Given the description of an element on the screen output the (x, y) to click on. 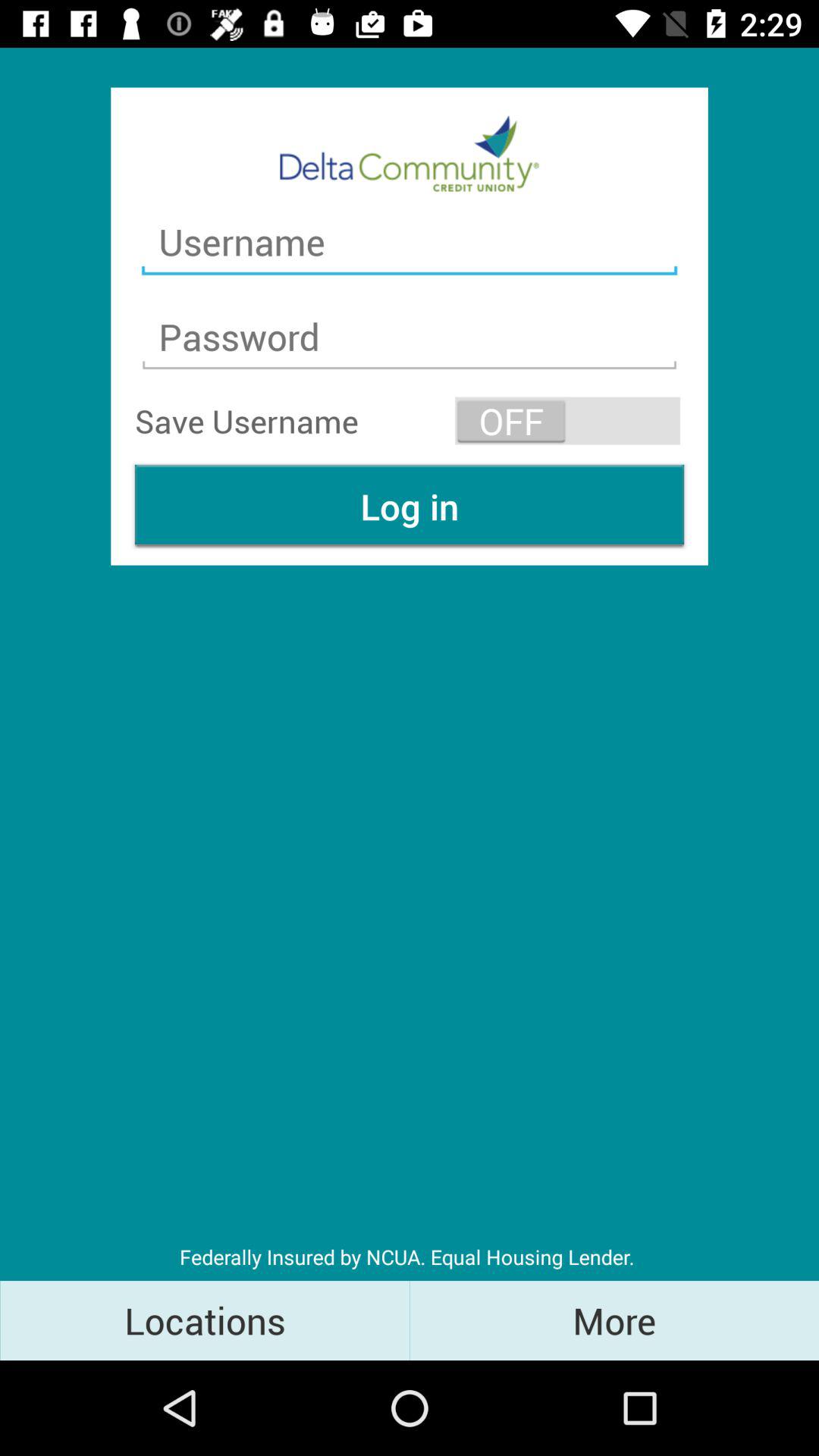
click the icon at the bottom right corner (614, 1320)
